Given the description of an element on the screen output the (x, y) to click on. 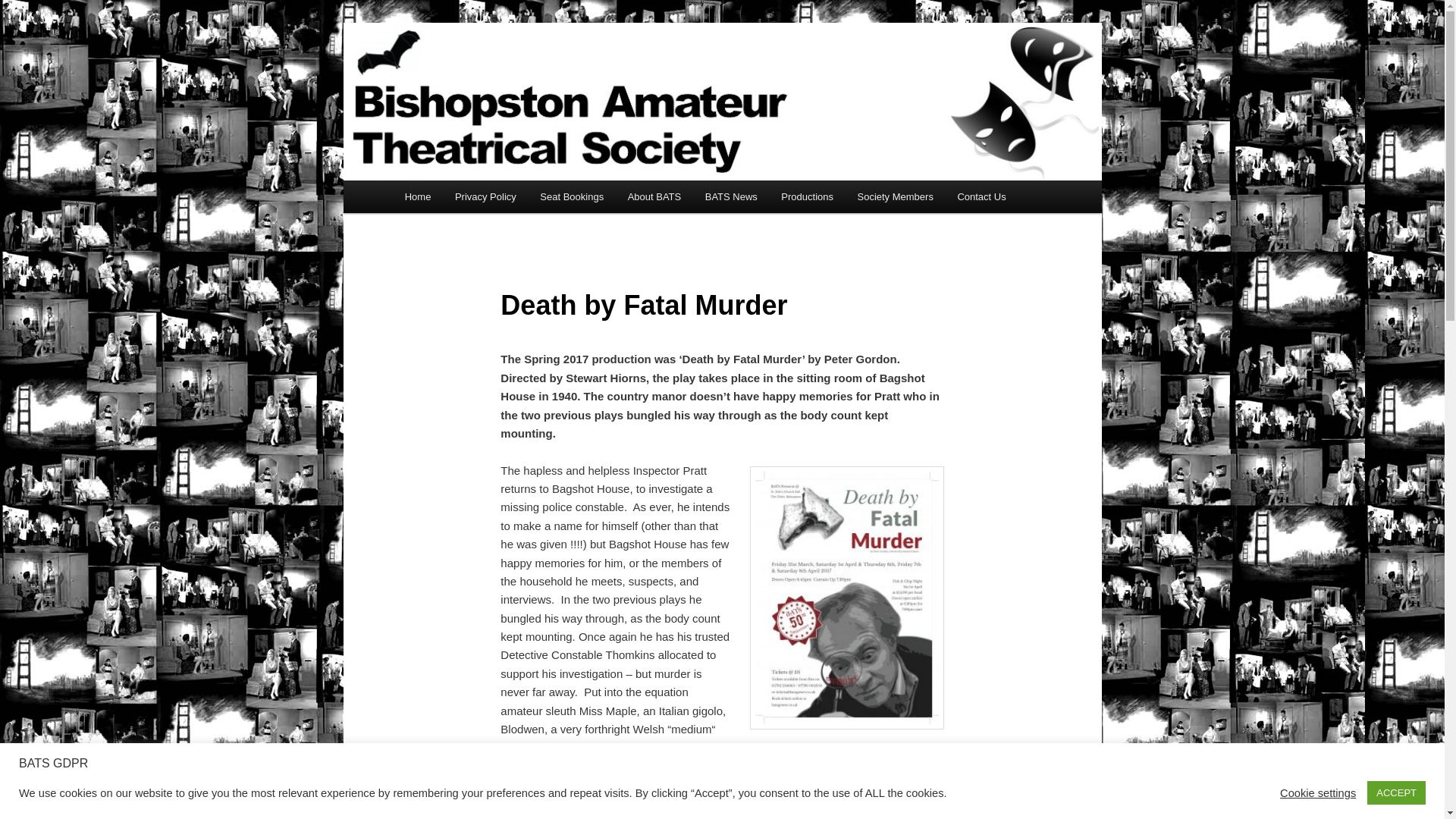
Society Members (894, 196)
Skip to primary content (472, 199)
Seat Bookings (571, 196)
ACCEPT (1396, 792)
Cookie settings (1317, 792)
Contact Us (980, 196)
Home (417, 196)
BATS News (731, 196)
Skip to secondary content (479, 199)
Privacy Policy (484, 196)
Skip to secondary content (479, 199)
About BATS (654, 196)
Skip to primary content (472, 199)
Productions (807, 196)
